Given the description of an element on the screen output the (x, y) to click on. 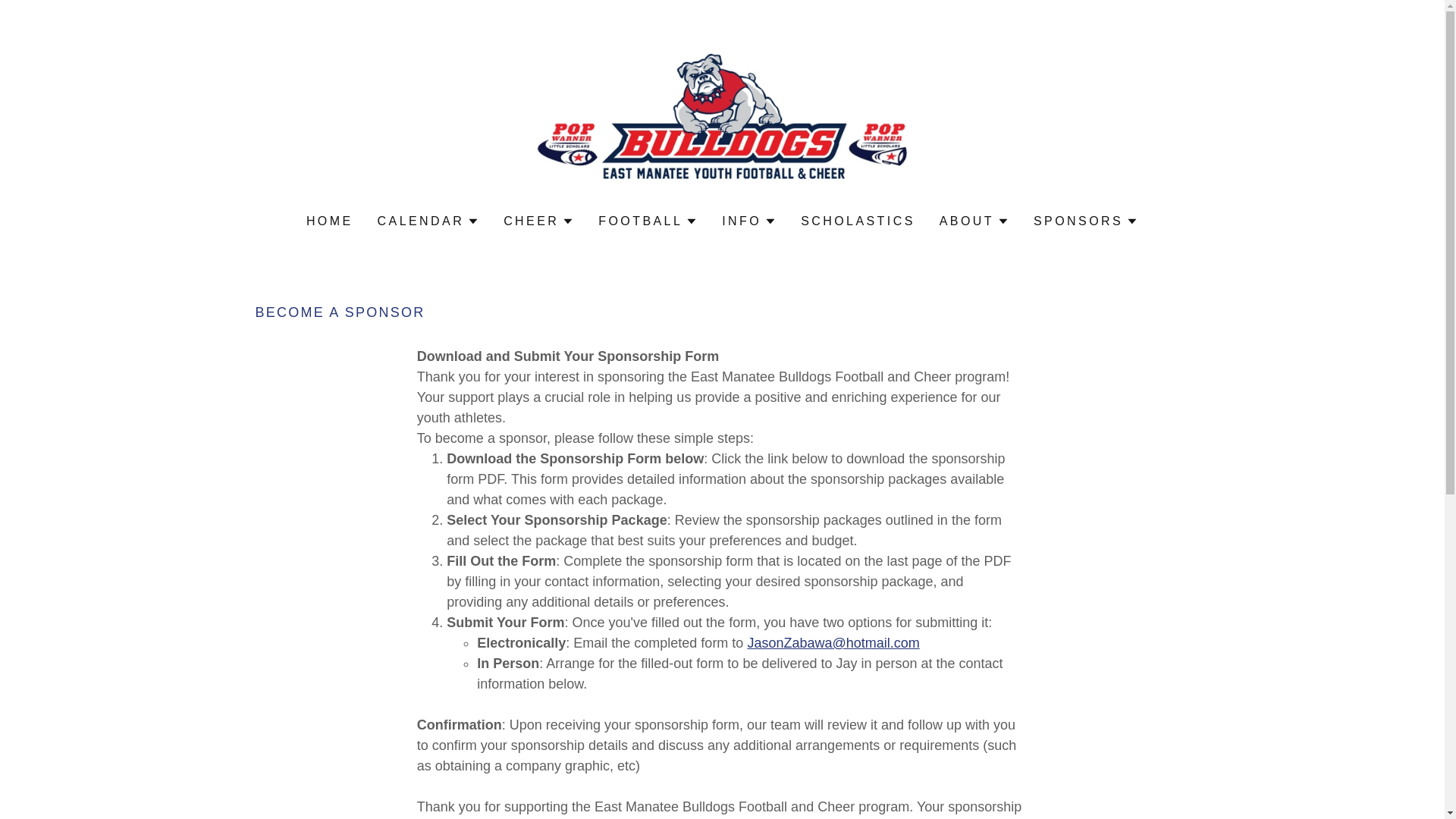
SPONSORS (1085, 221)
FOOTBALL (647, 221)
CHEER (538, 221)
INFO (749, 221)
HOME (329, 221)
ABOUT (974, 221)
SCHOLASTICS (858, 221)
CALENDAR (428, 221)
East Manatee Bulldogs (721, 117)
